Given the description of an element on the screen output the (x, y) to click on. 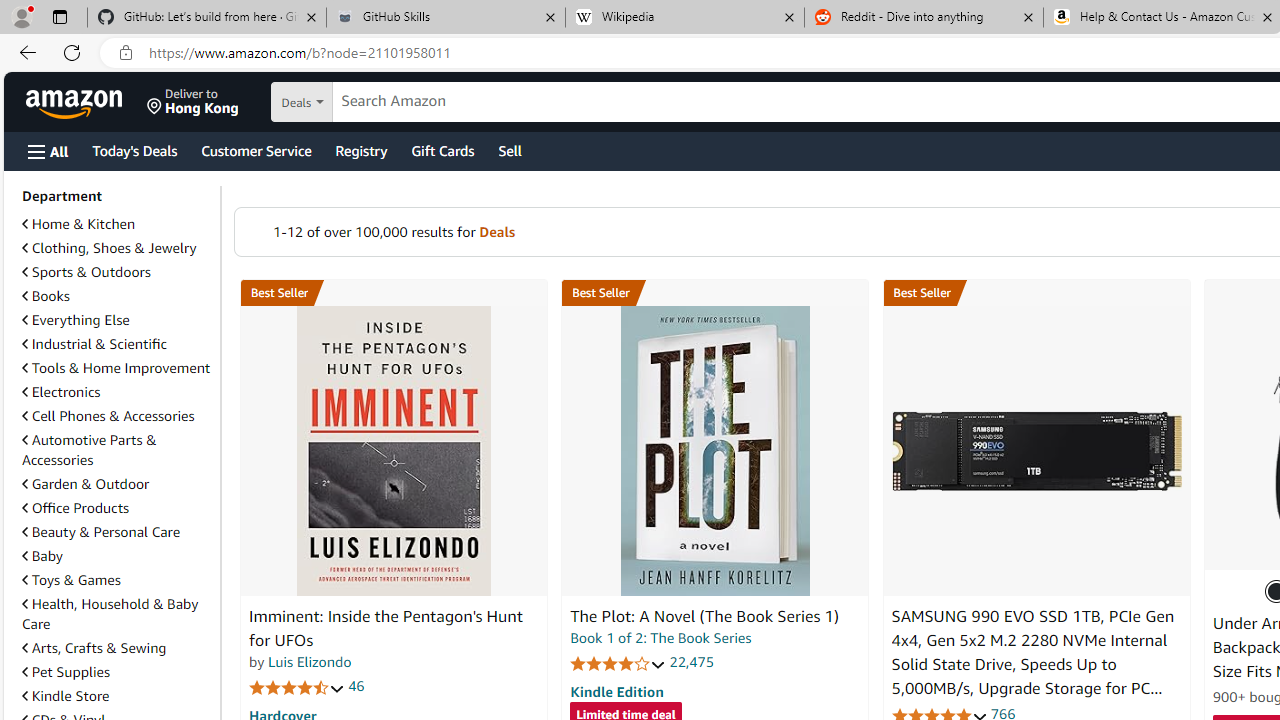
Amazon (76, 101)
Open Menu (48, 151)
Everything Else (75, 320)
4.2 out of 5 stars (617, 663)
Today's Deals (134, 150)
Arts, Crafts & Sewing (93, 647)
Books (117, 295)
Kindle Edition (616, 691)
Industrial & Scientific (94, 343)
Baby (41, 556)
Pet Supplies (117, 671)
Kindle Store (117, 696)
